Given the description of an element on the screen output the (x, y) to click on. 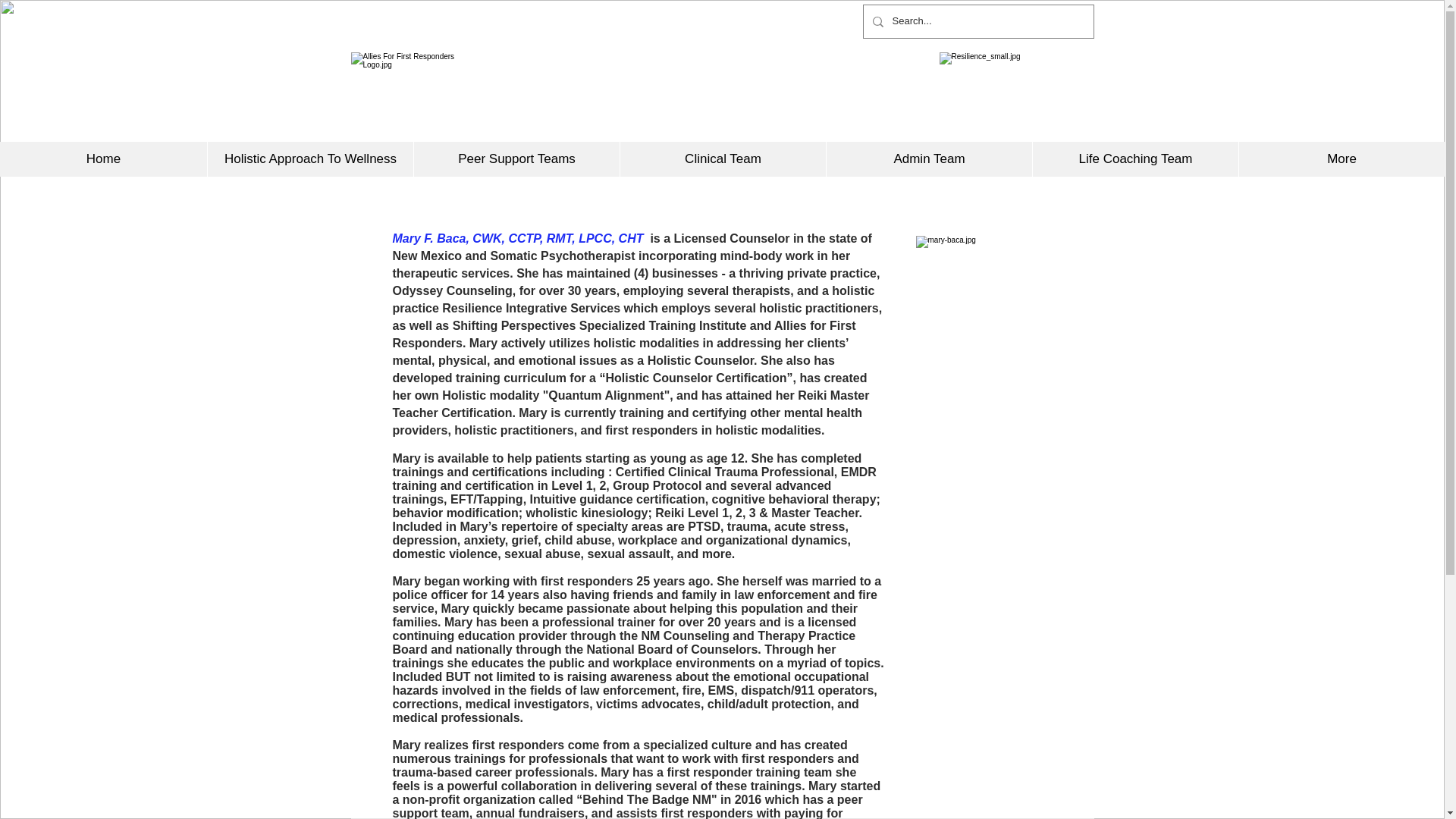
Life Coaching Team (1135, 158)
Clinical Team (722, 158)
Home (103, 158)
Holistic Approach To Wellness (309, 158)
Peer Support Teams (516, 158)
Admin Team (928, 158)
